Given the description of an element on the screen output the (x, y) to click on. 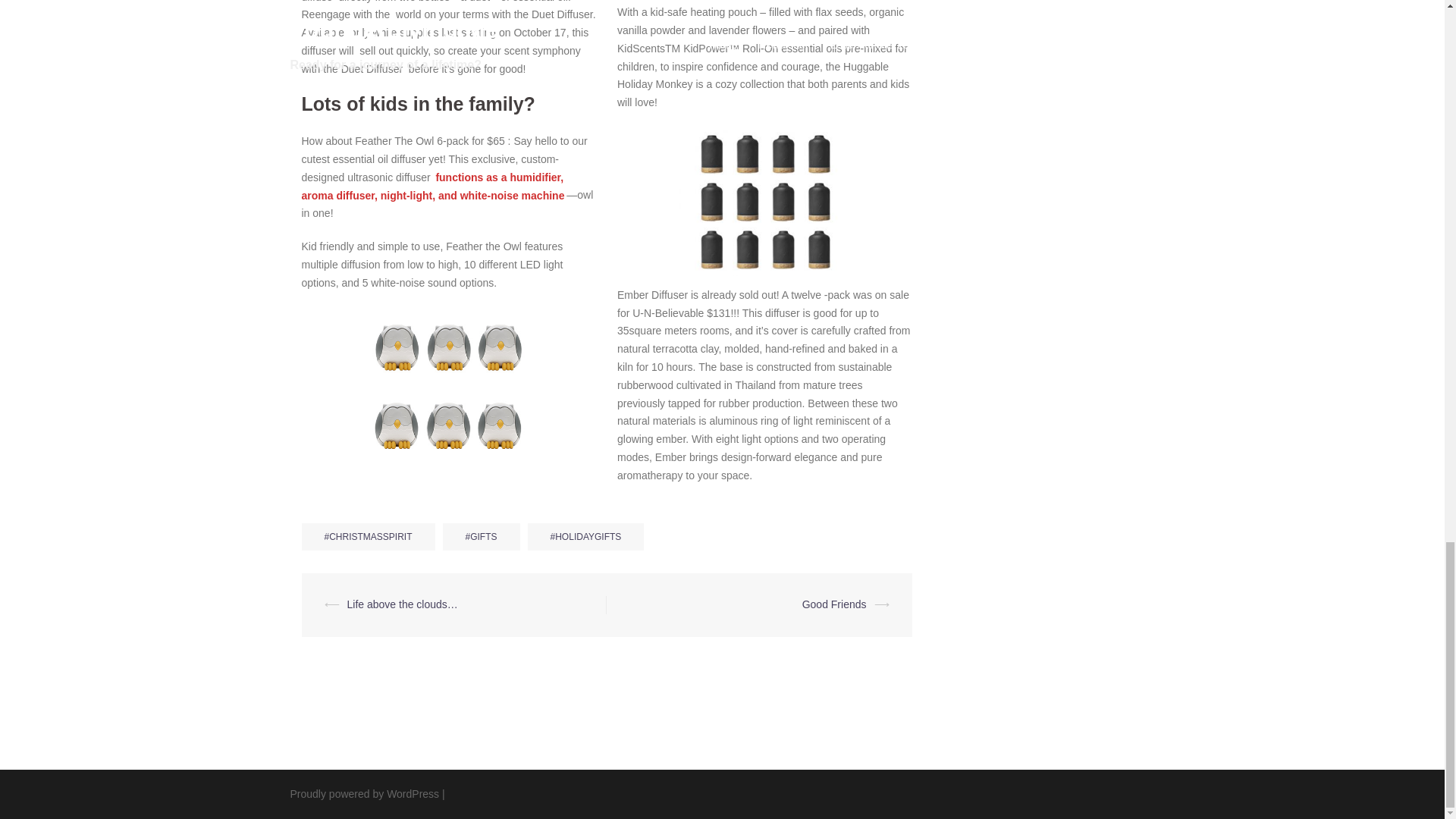
Good Friends (834, 604)
